Given the description of an element on the screen output the (x, y) to click on. 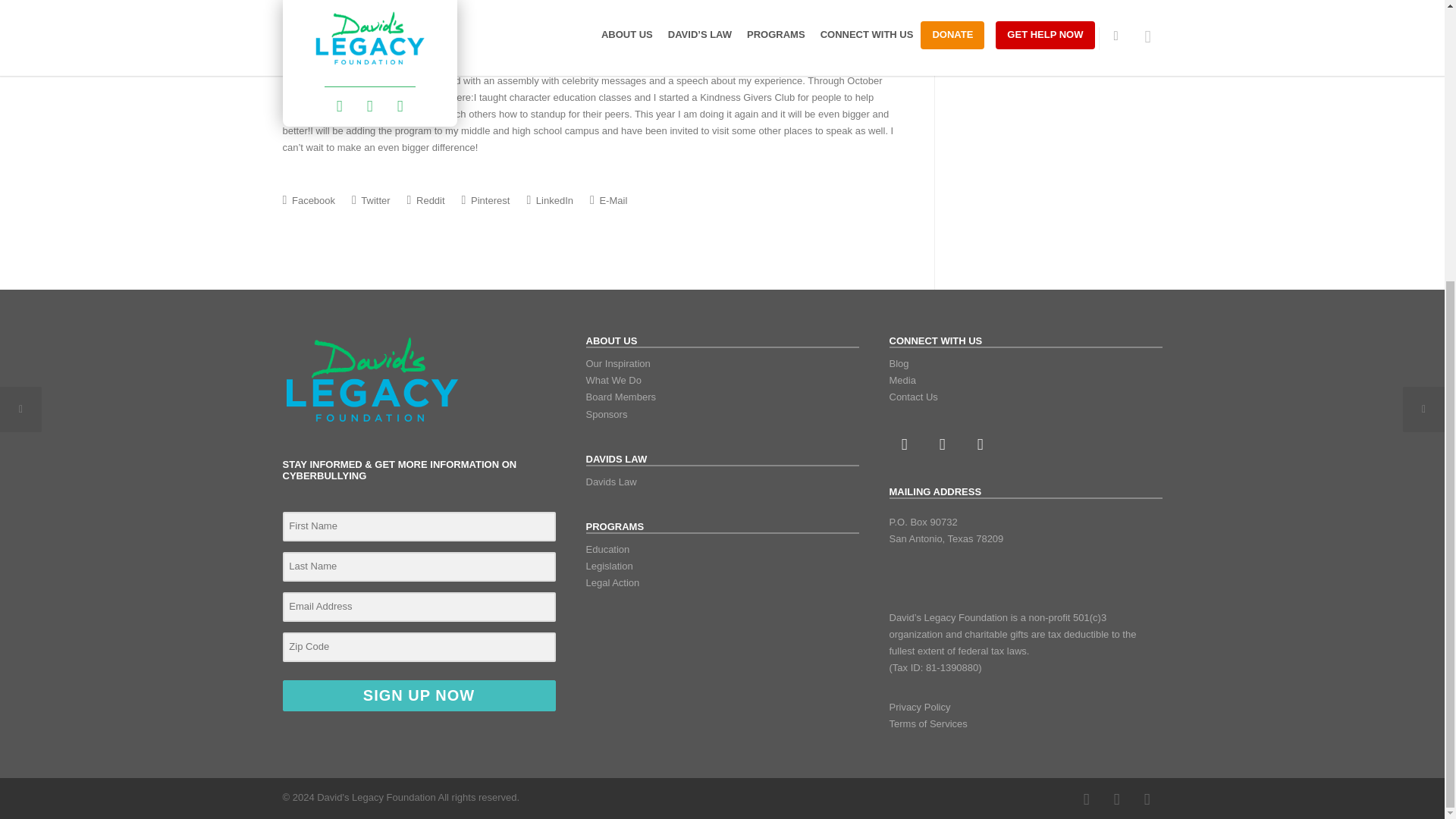
YouTube (1146, 798)
Facebook (1085, 798)
LinkedIn (1115, 798)
Twitter (978, 444)
Instagram (941, 444)
Facebook (903, 444)
